Given the description of an element on the screen output the (x, y) to click on. 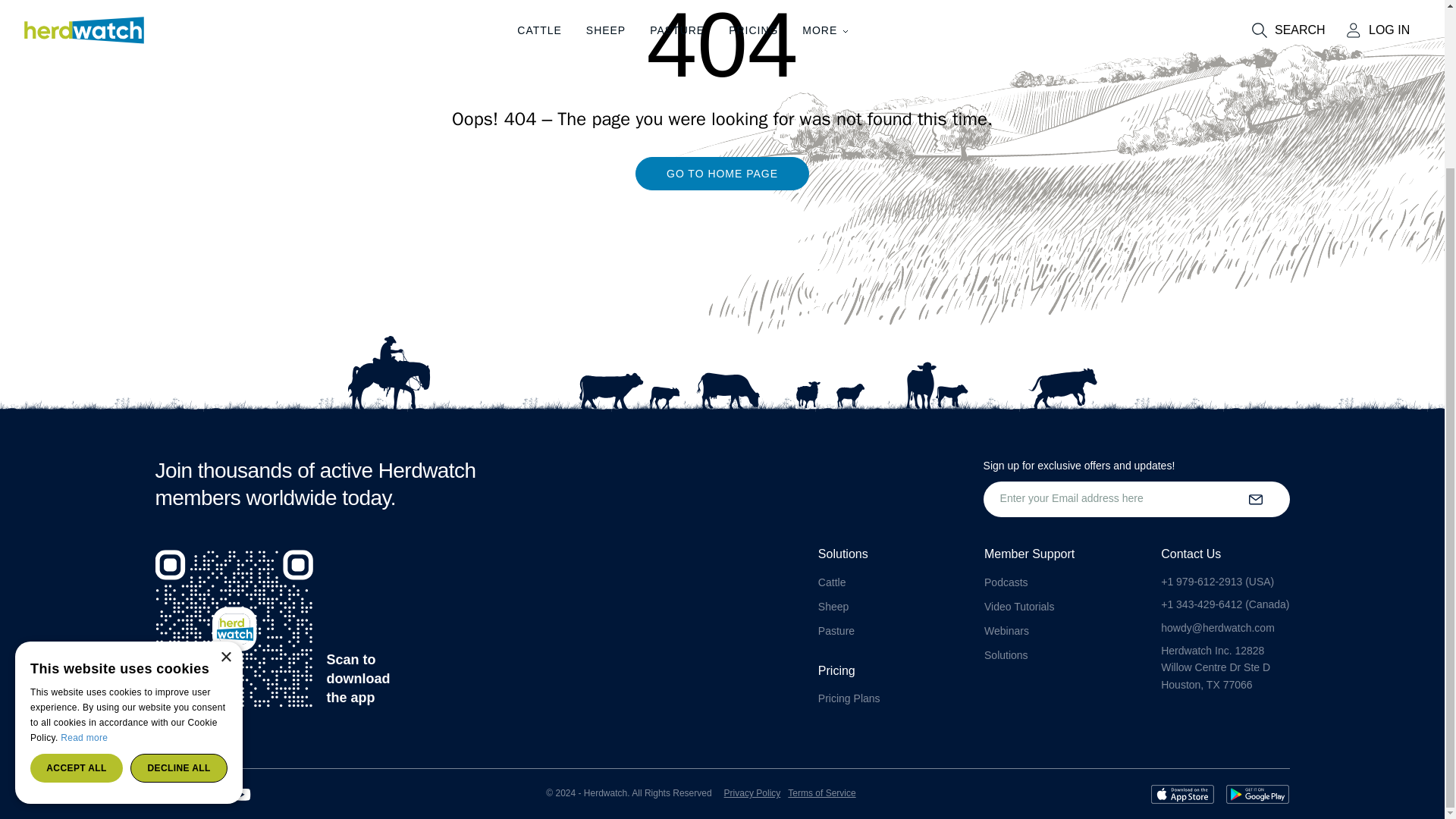
Terms of Service (821, 793)
Sheep (833, 606)
GO TO HOME PAGE (721, 188)
Pricing Plans (849, 698)
Solutions (1005, 654)
Podcasts (1005, 582)
Cattle (831, 582)
Pasture (836, 630)
Privacy Policy (751, 793)
Video Tutorials (1019, 606)
Webinars (1006, 630)
